Given the description of an element on the screen output the (x, y) to click on. 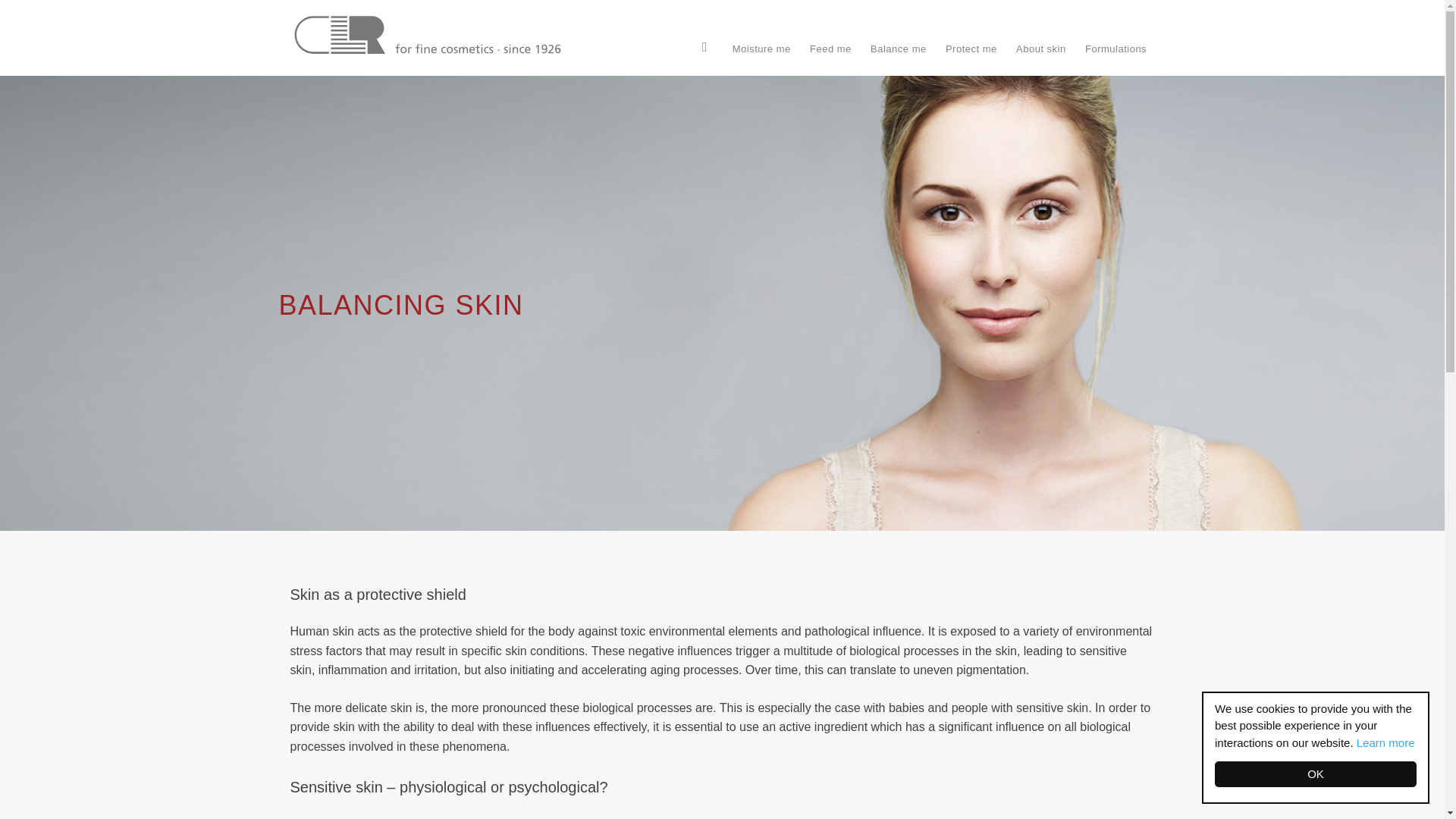
Formulations (1115, 49)
Learn more (1400, 741)
About skin (1041, 49)
Balance me (898, 49)
Feed me (831, 49)
Moisture me (760, 49)
Press Pause CLR Berlin (429, 37)
Protect me (971, 49)
OK (1330, 774)
Press Pause CLR Berlin (429, 37)
